Given the description of an element on the screen output the (x, y) to click on. 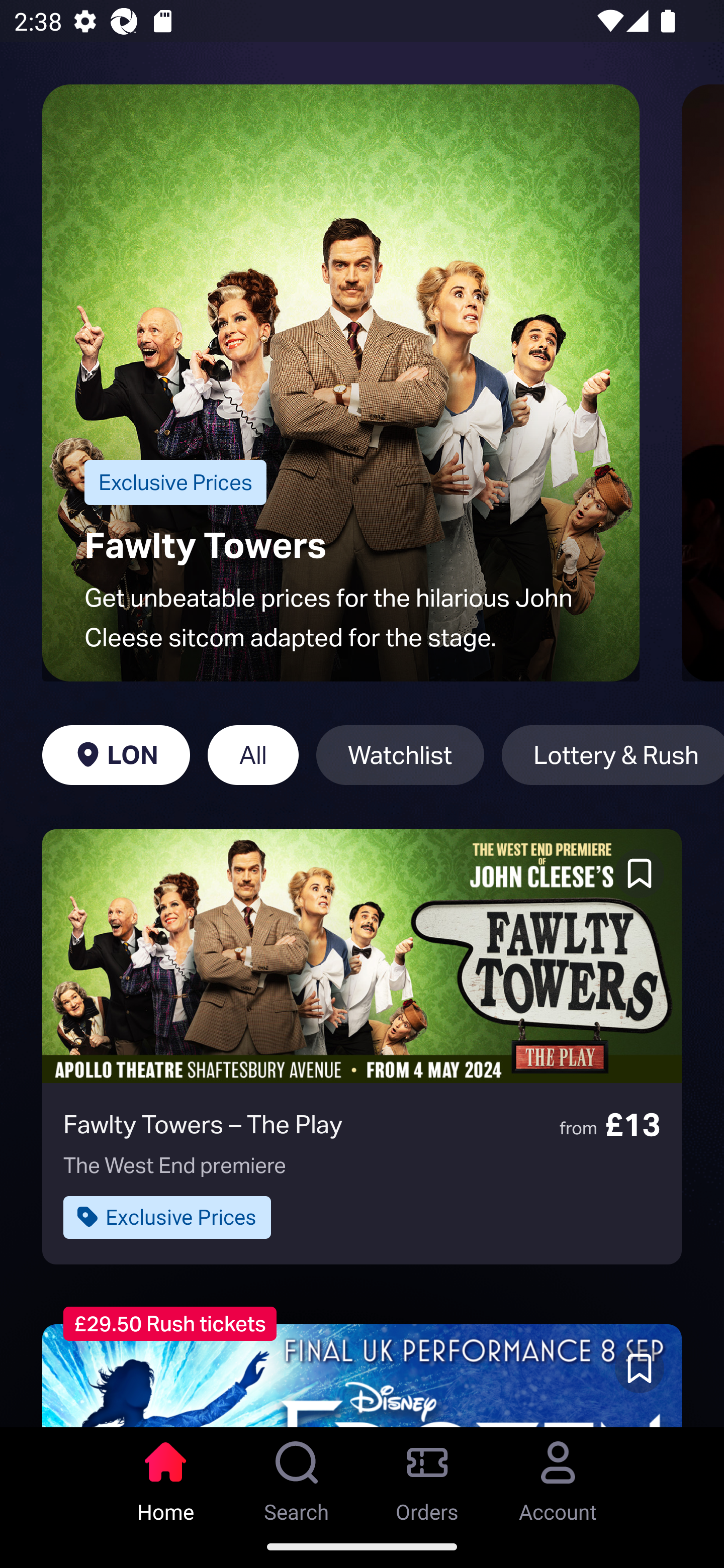
LON (115, 754)
All (252, 754)
Watchlist (400, 754)
Lottery & Rush (612, 754)
Search (296, 1475)
Orders (427, 1475)
Account (558, 1475)
